Given the description of an element on the screen output the (x, y) to click on. 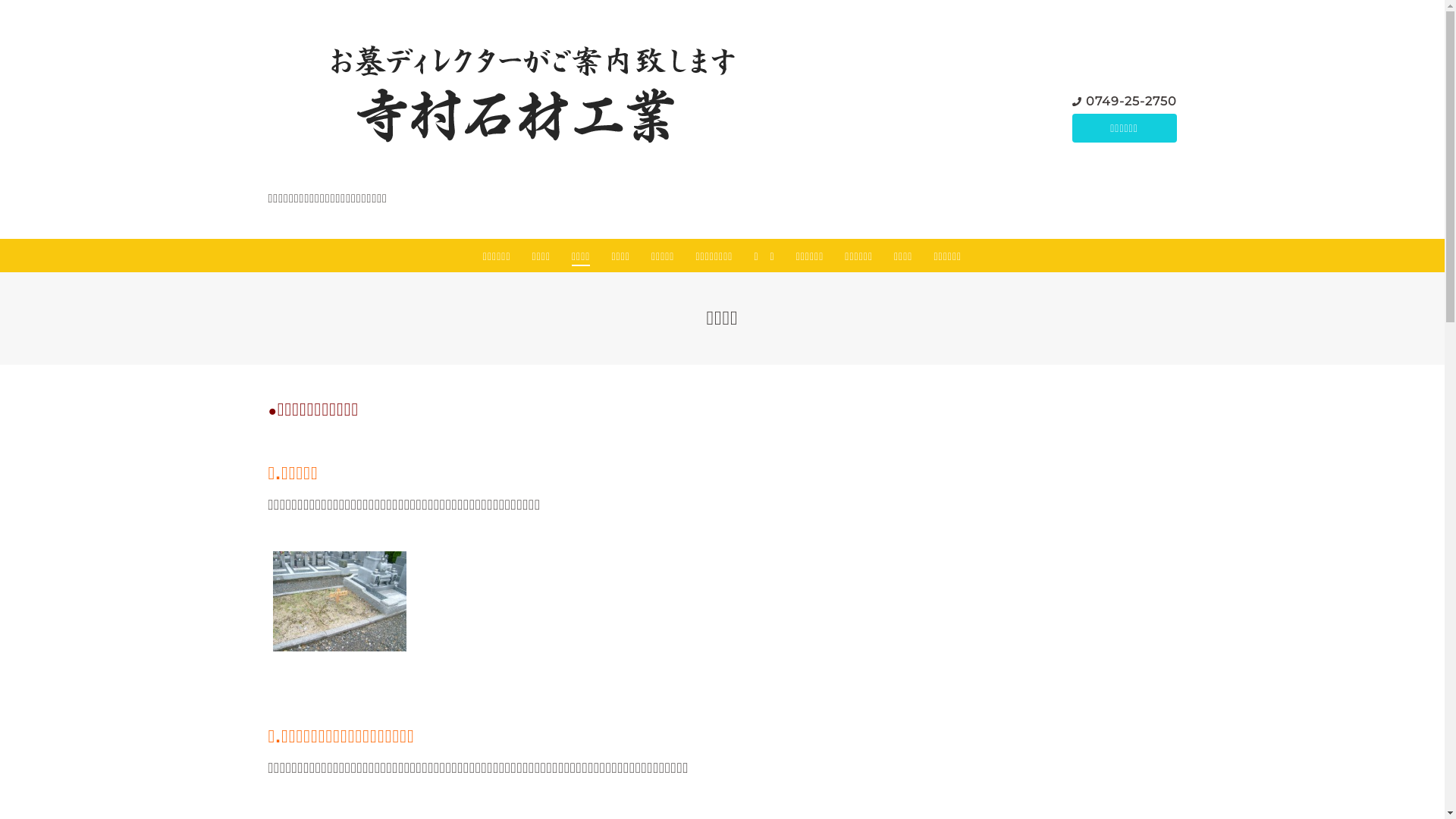
0749-25-2750 Element type: text (1130, 101)
